Given the description of an element on the screen output the (x, y) to click on. 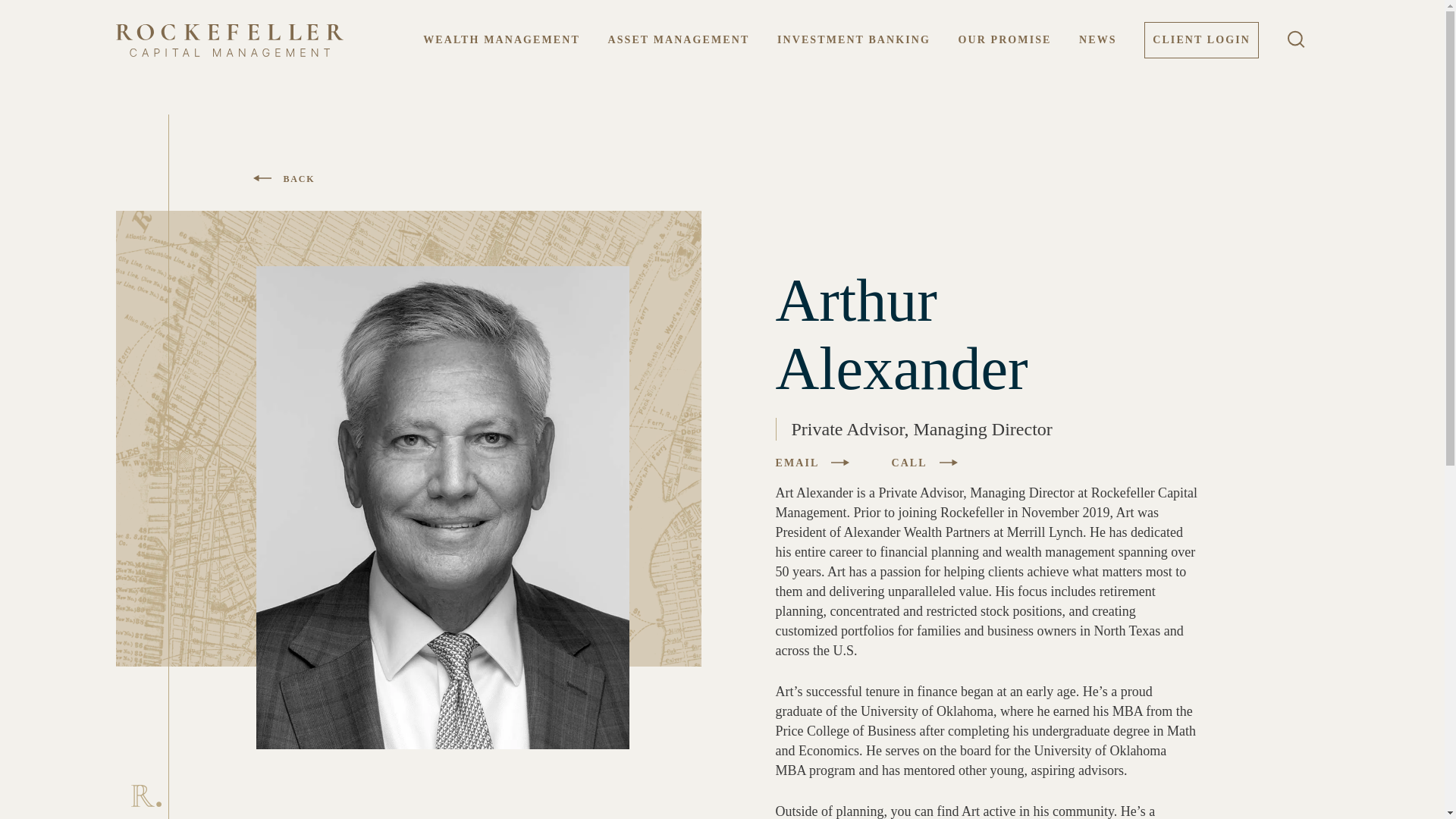
ASSET MANAGEMENT (678, 39)
WEALTH MANAGEMENT (501, 39)
INVESTMENT BANKING (853, 39)
Arthur Alexander (986, 333)
Private Advisor, Managing Director (986, 427)
